Given the description of an element on the screen output the (x, y) to click on. 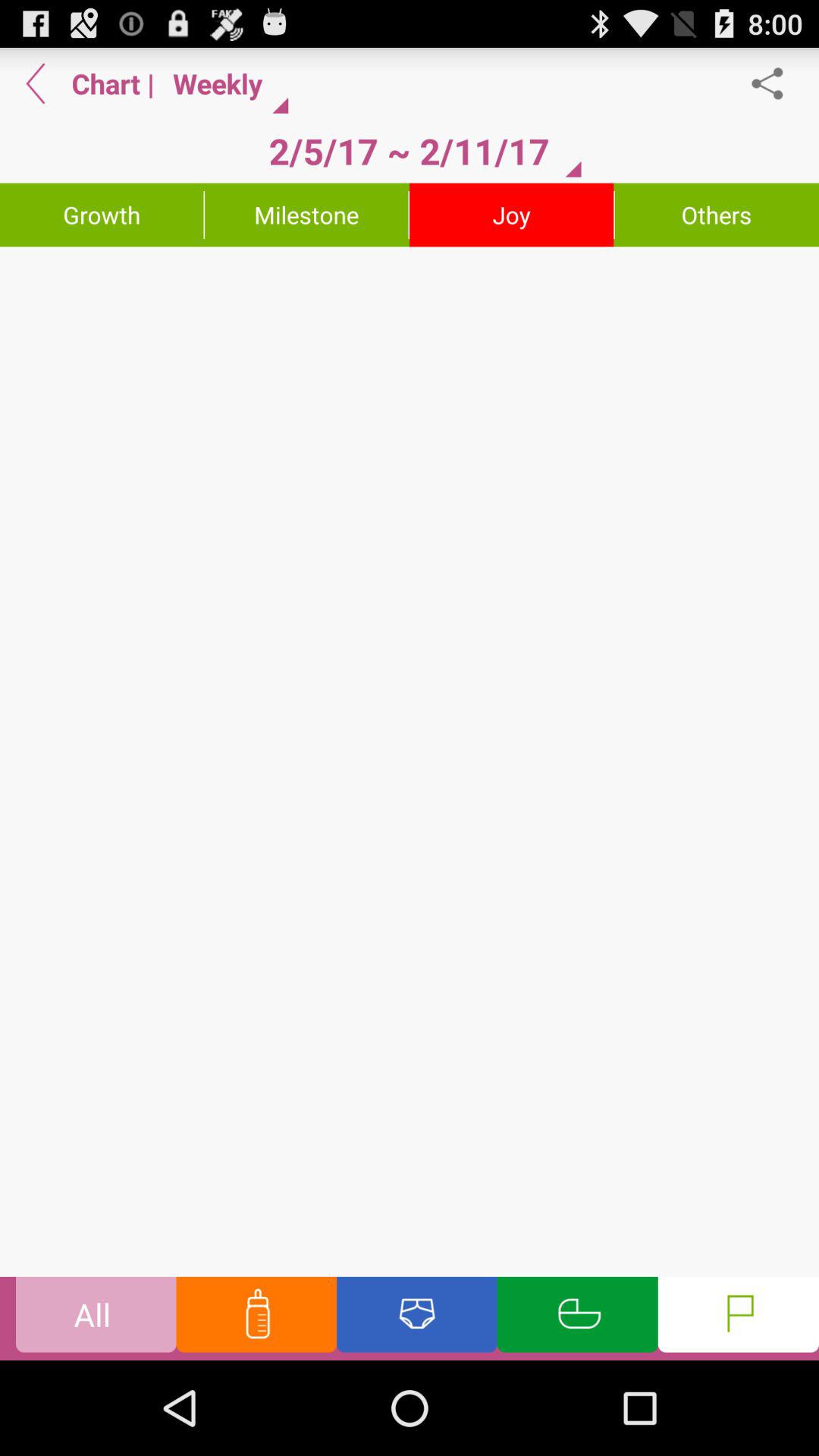
log feeding (256, 1318)
